Given the description of an element on the screen output the (x, y) to click on. 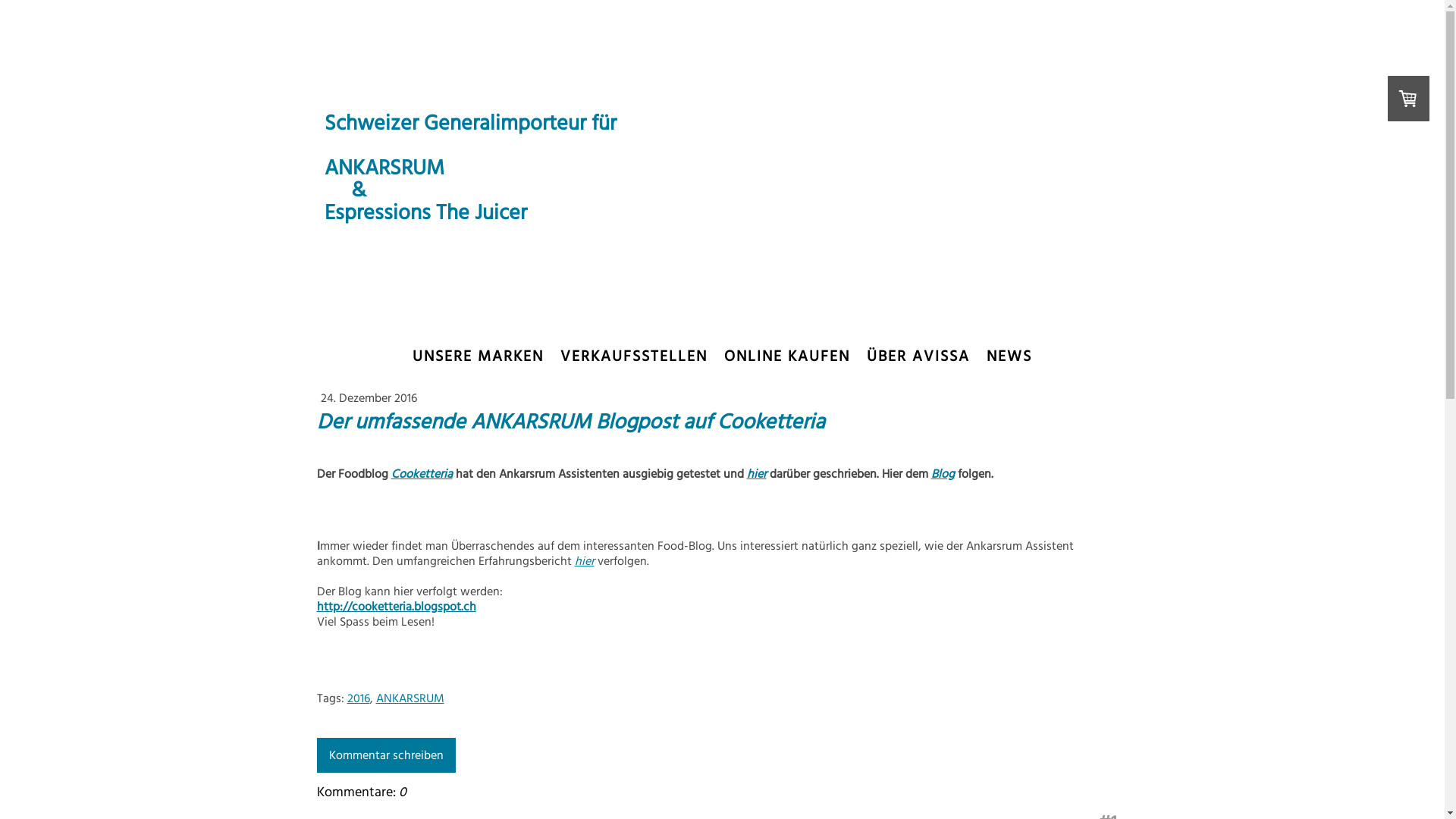
ANKARSRUM Element type: text (410, 698)
VERKAUFSSTELLEN Element type: text (633, 356)
NEWS Element type: text (1009, 356)
UNSERE MARKEN Element type: text (478, 356)
2016 Element type: text (358, 698)
Cooketteria Element type: text (421, 473)
ONLINE KAUFEN Element type: text (786, 356)
http://cooketteria.blogspot.ch Element type: text (396, 606)
Kommentar schreiben Element type: text (385, 754)
hier Element type: text (755, 473)
Blog Element type: text (942, 473)
hier Element type: text (584, 560)
